Given the description of an element on the screen output the (x, y) to click on. 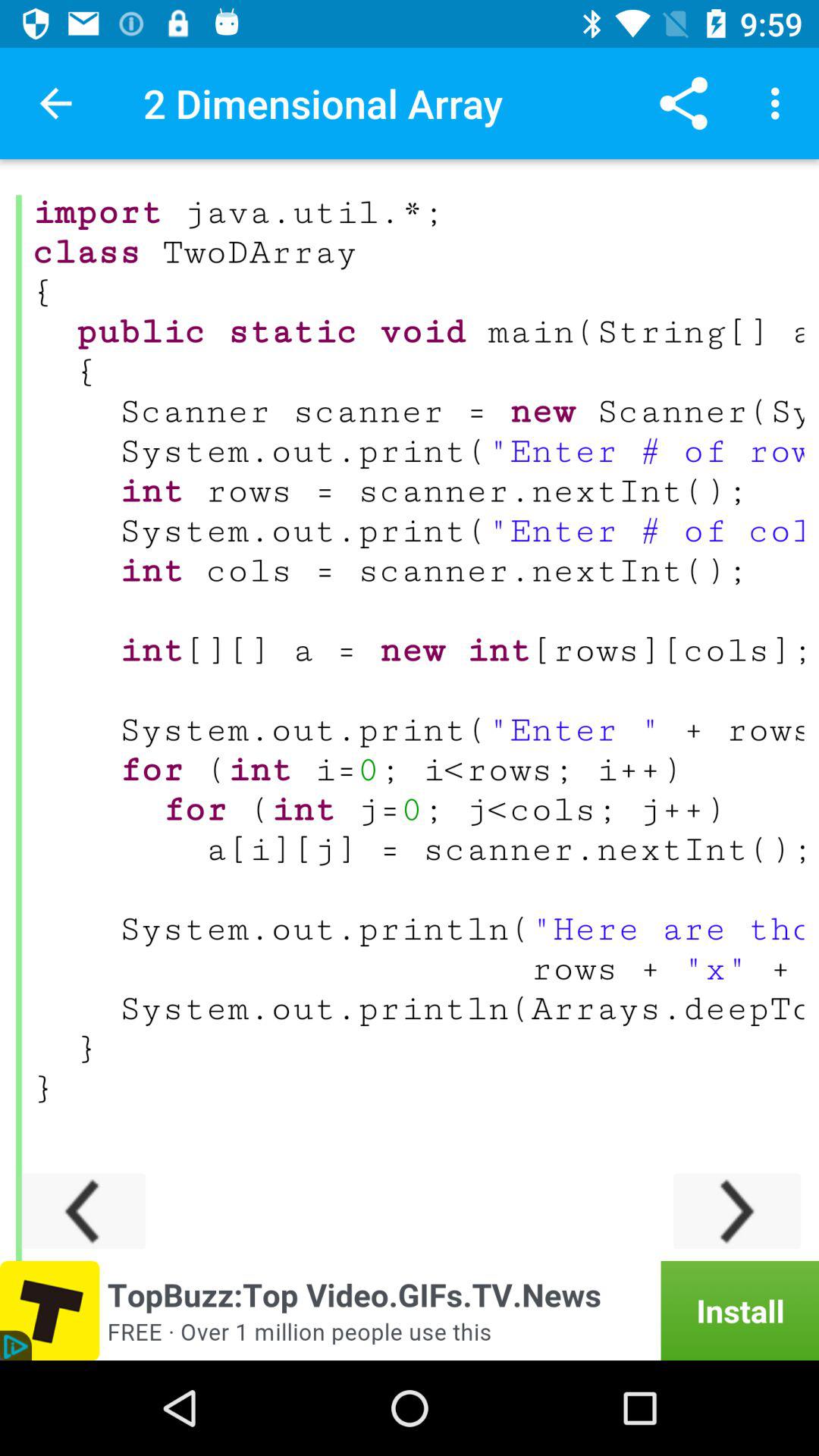
scroll to the left (81, 1210)
